Given the description of an element on the screen output the (x, y) to click on. 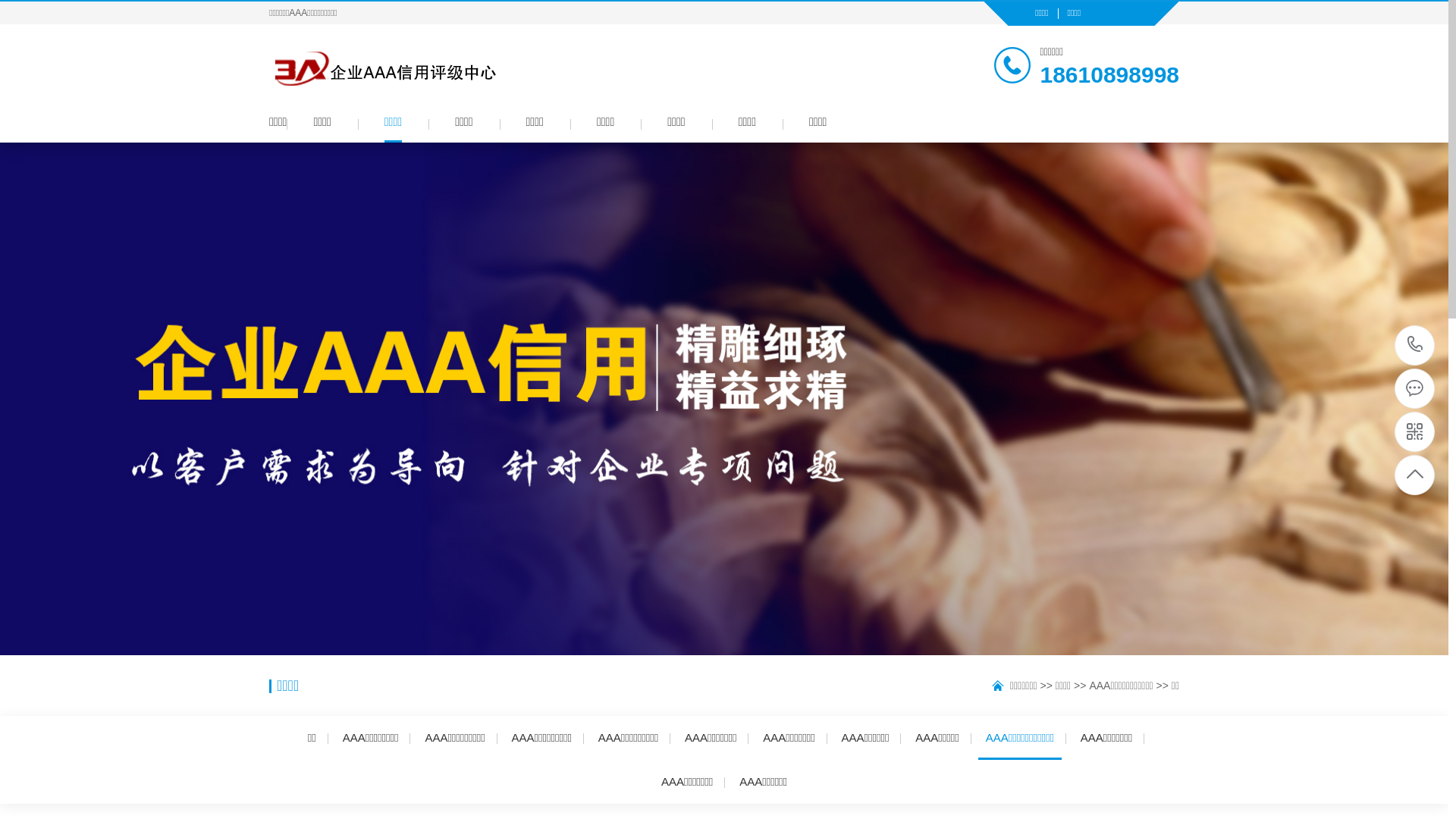
18610898998 Element type: text (1415, 345)
